Given the description of an element on the screen output the (x, y) to click on. 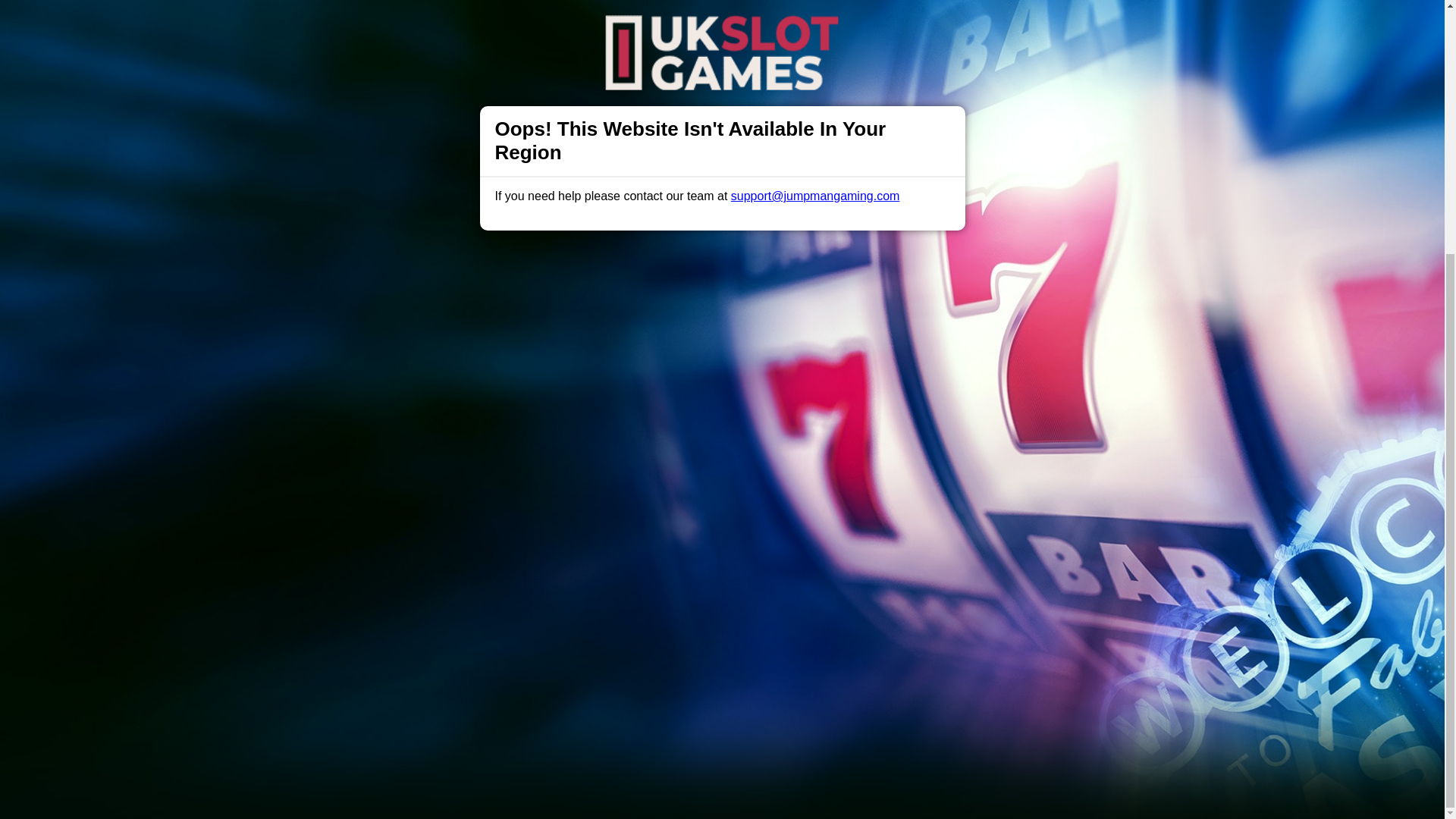
Blog (738, 491)
www.begambleaware.org (615, 657)
Responsible Gaming (407, 491)
Back To All Games (721, 393)
Privacy Policy (671, 491)
Back To All Games (722, 393)
Affiliates (791, 491)
Help (489, 491)
www.jumpmancares.co.uk (738, 657)
Jumpman Gaming Limited (536, 694)
39175 (1011, 694)
